Given the description of an element on the screen output the (x, y) to click on. 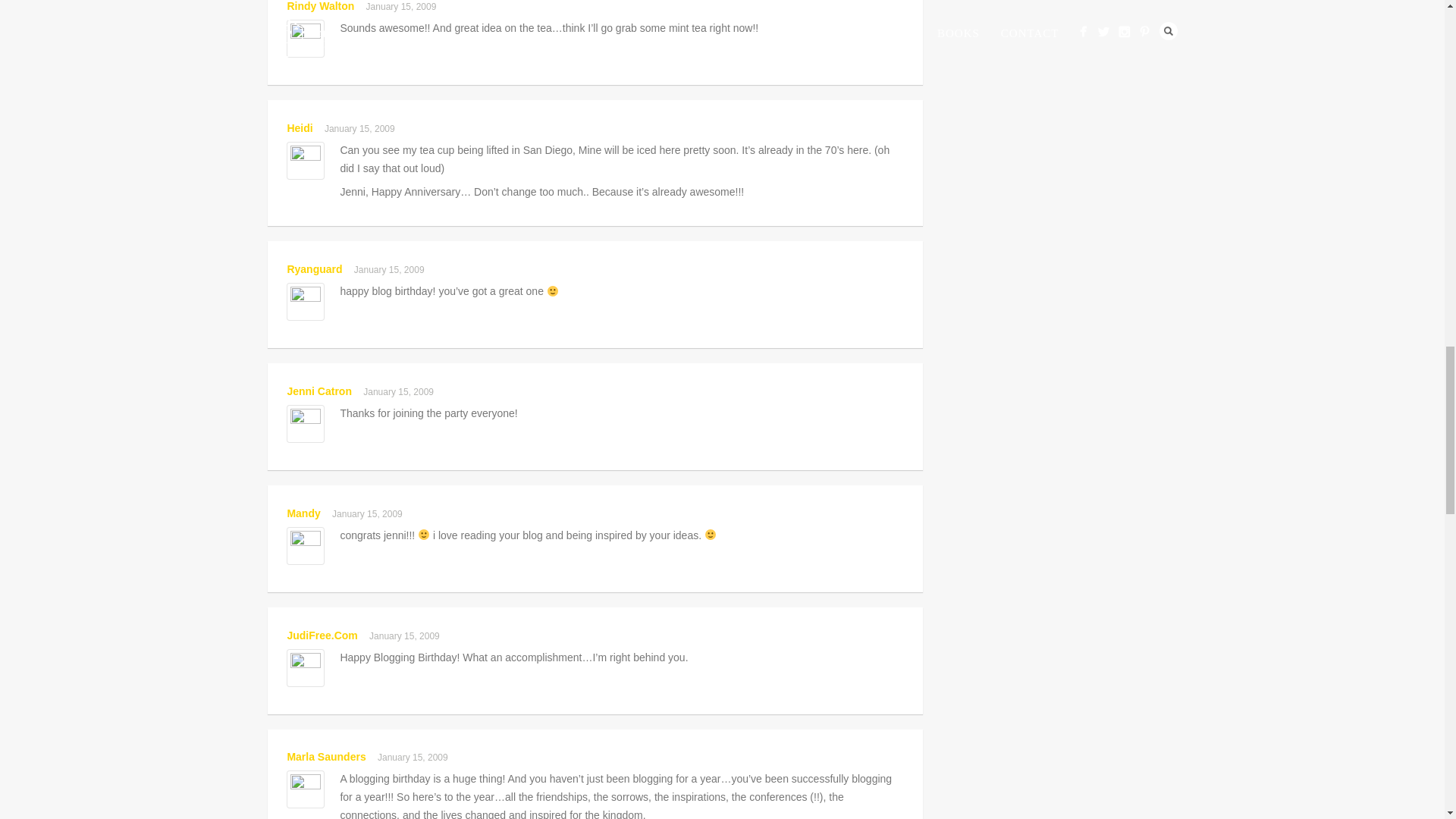
Heidi (299, 128)
Mandy (303, 512)
Jenni Catron (319, 390)
Ryanguard (314, 268)
Marla Saunders (325, 756)
JudiFree.Com (321, 635)
Rindy Walton (319, 6)
